Given the description of an element on the screen output the (x, y) to click on. 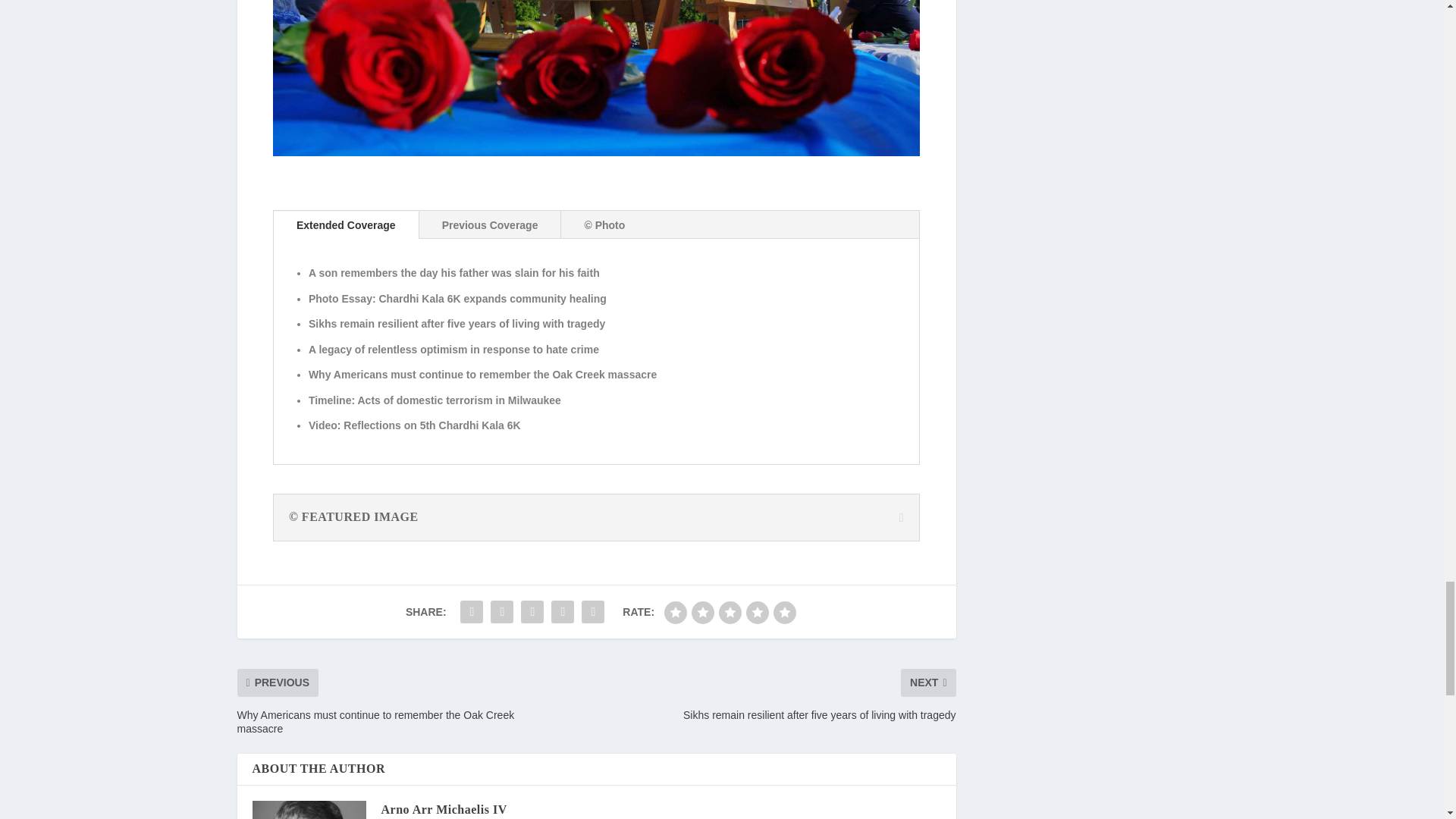
regular (730, 612)
good (756, 612)
poor (702, 612)
bad (675, 612)
